Given the description of an element on the screen output the (x, y) to click on. 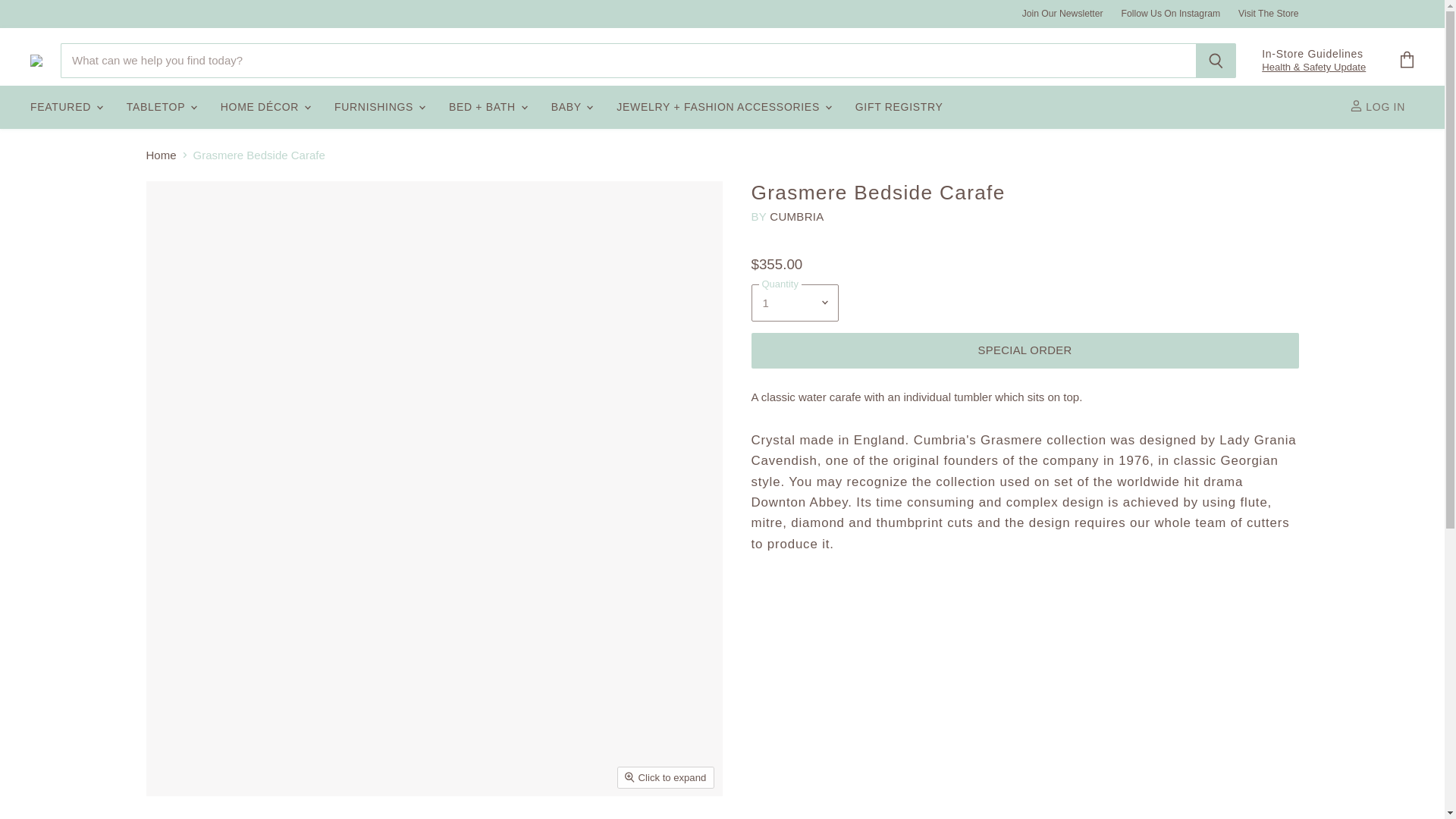
FEATURED (65, 106)
Cumbria (797, 215)
Join Our Newsletter (1062, 13)
ACCOUNT ICON (1355, 105)
TABLETOP (160, 106)
Follow Us On Instagram (1171, 13)
Visit The Store (1268, 13)
